Given the description of an element on the screen output the (x, y) to click on. 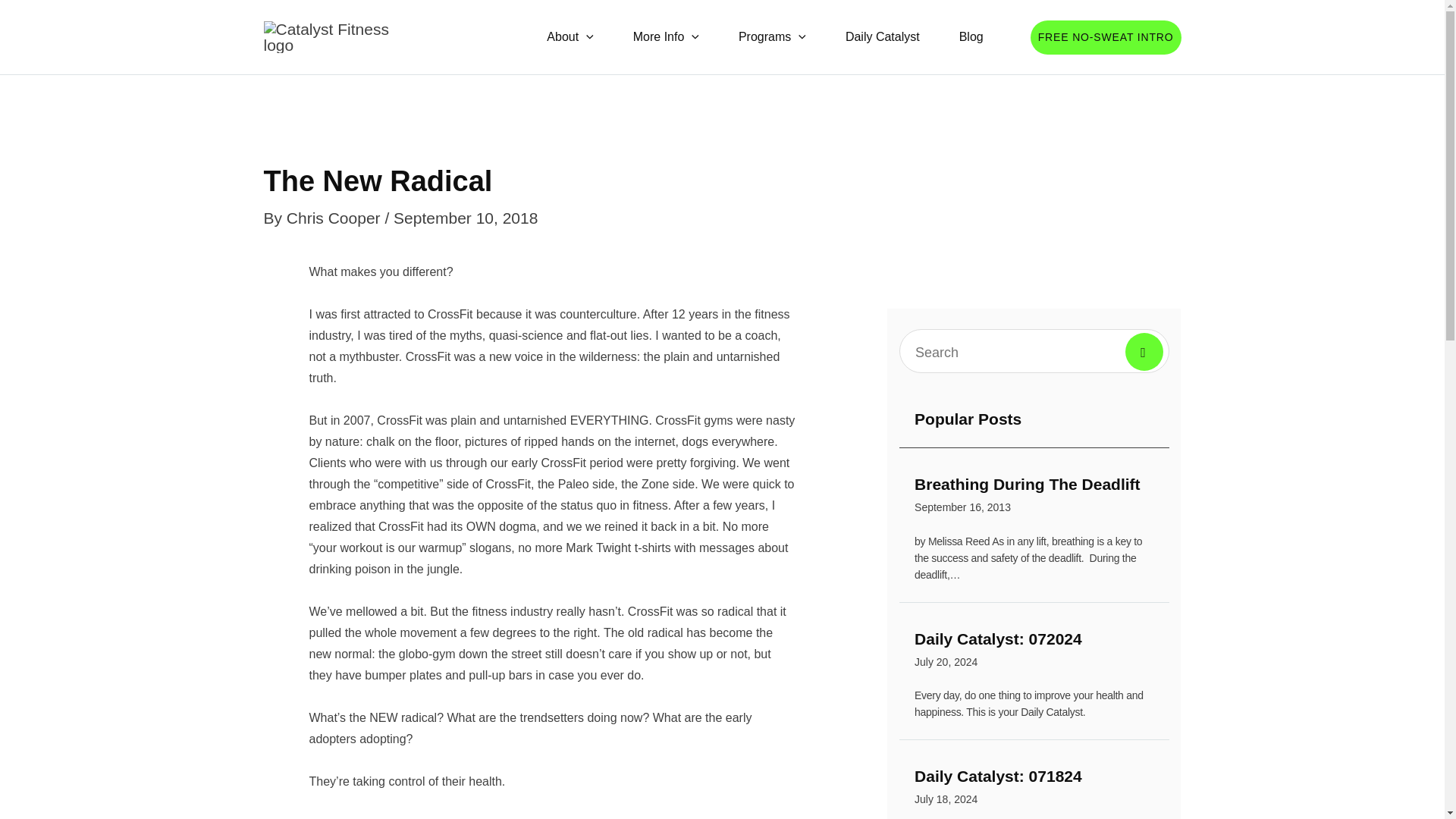
FREE NO-SWEAT INTRO (1105, 36)
About (569, 36)
More Info (1034, 651)
Daily Catalyst (665, 36)
Blog (882, 36)
Chris Cooper (971, 36)
View all posts by Chris Cooper (335, 217)
Programs (335, 217)
